Given the description of an element on the screen output the (x, y) to click on. 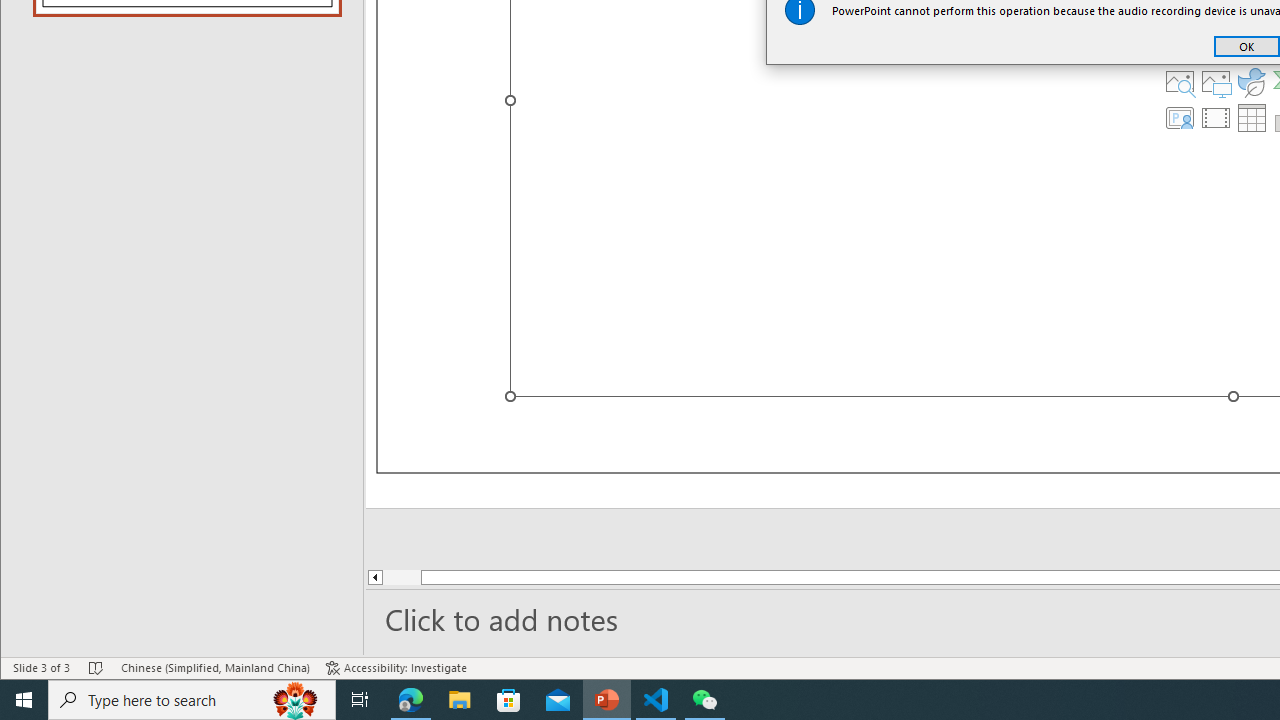
Insert Cameo (1179, 117)
Insert Video (1215, 117)
WeChat - 1 running window (704, 699)
Insert Table (1252, 117)
